Given the description of an element on the screen output the (x, y) to click on. 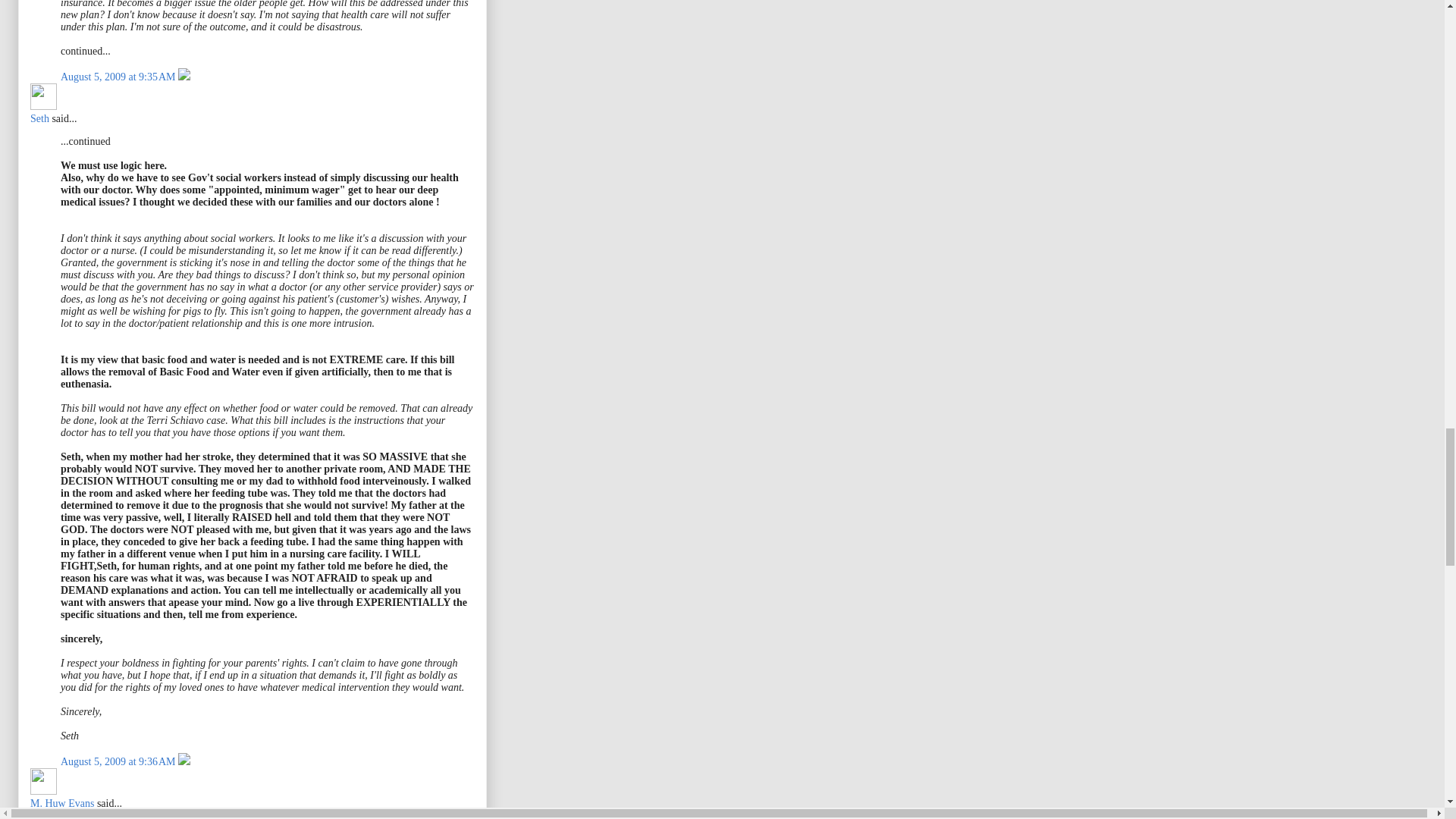
M. Huw Evans (62, 803)
comment permalink (119, 76)
Seth (39, 118)
